Given the description of an element on the screen output the (x, y) to click on. 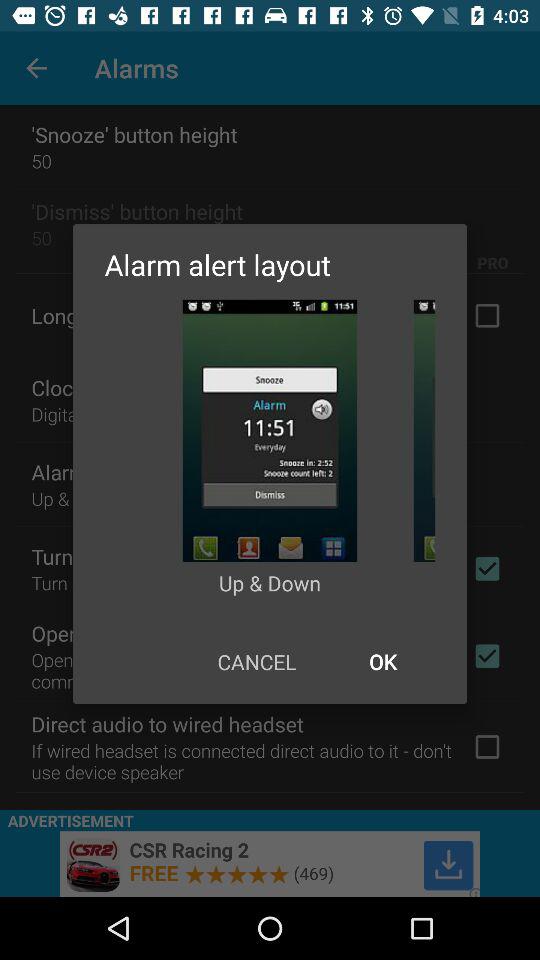
click item next to cancel icon (382, 661)
